Given the description of an element on the screen output the (x, y) to click on. 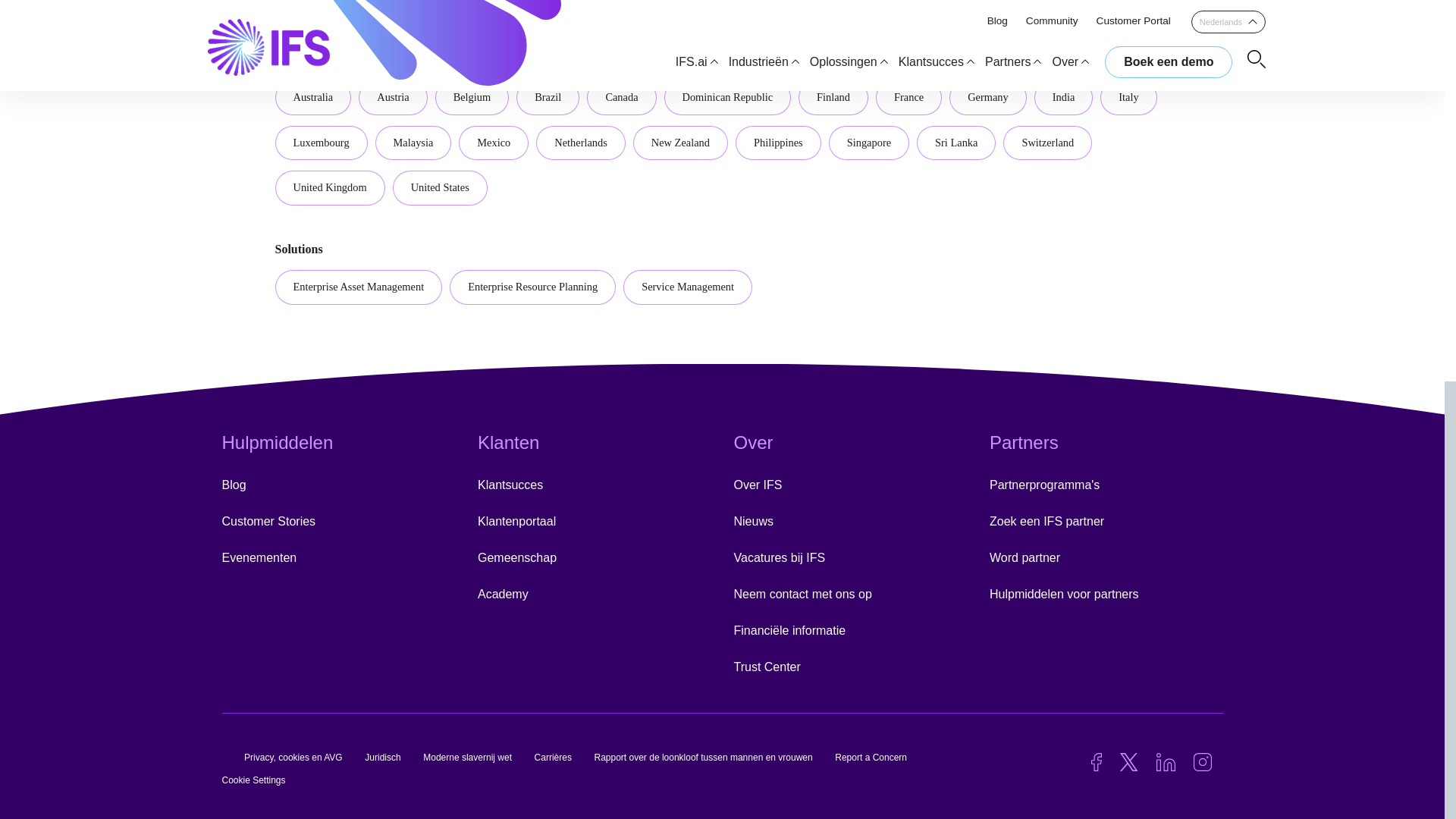
India (1063, 97)
Dominican Republic (727, 97)
Germany (987, 97)
Austria (392, 97)
Finland (832, 97)
Belgium (472, 97)
All Industries (323, 8)
Italy (1128, 97)
France (909, 97)
Malaysia (413, 143)
